Given the description of an element on the screen output the (x, y) to click on. 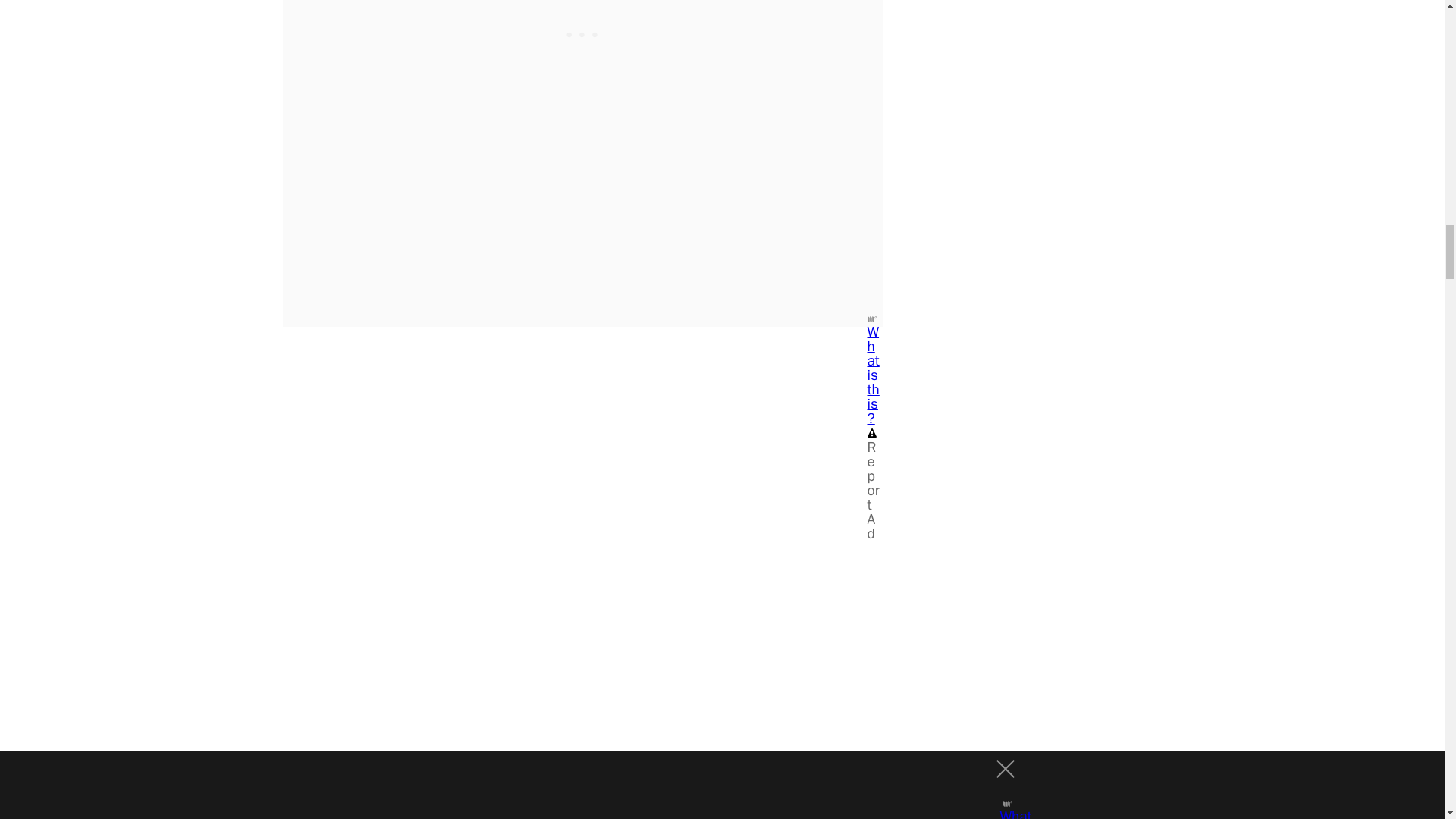
3rd party ad content (582, 30)
